Given the description of an element on the screen output the (x, y) to click on. 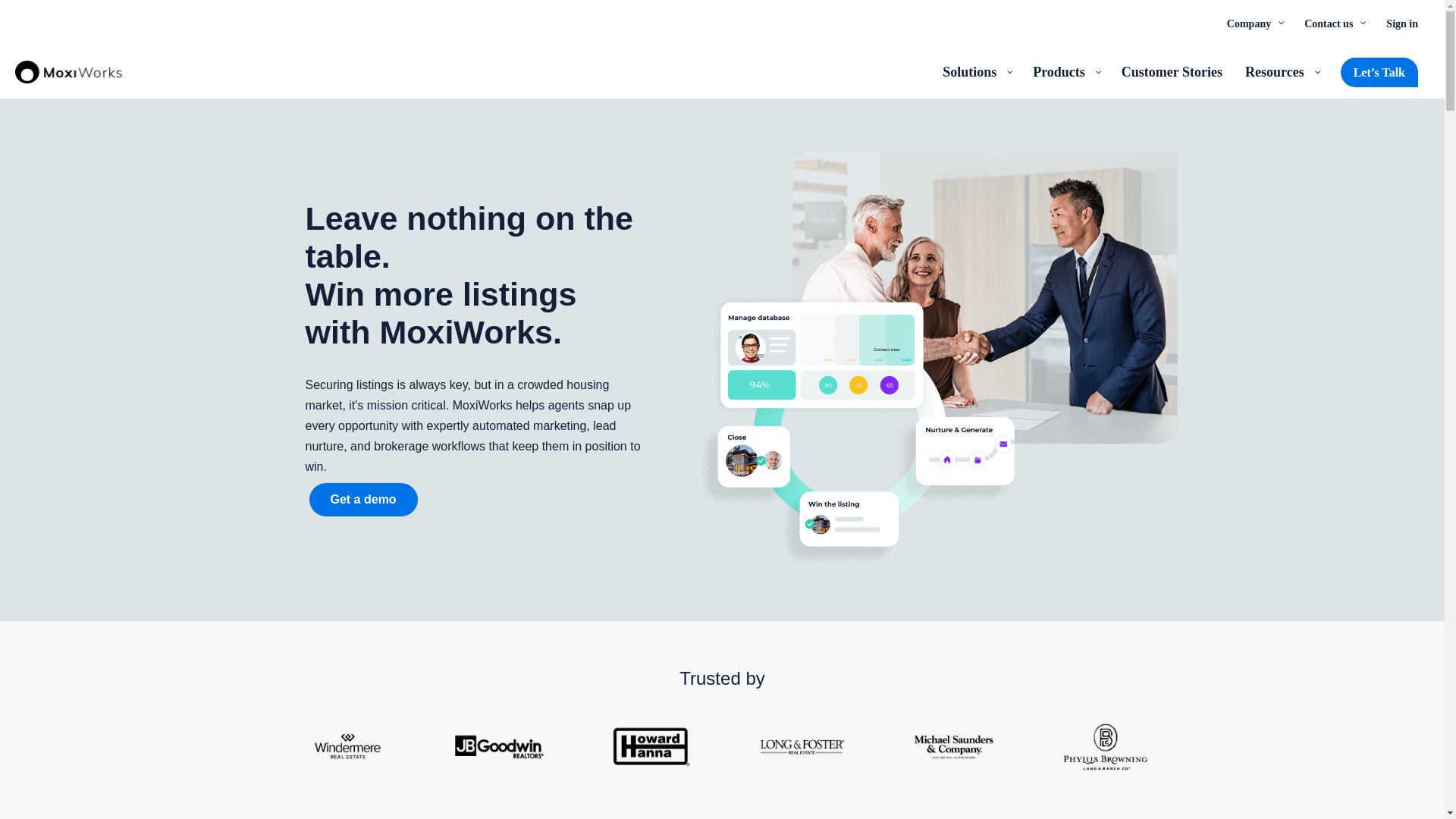
Contact us (1333, 22)
Solutions (976, 72)
Products (1065, 72)
Sign in (1401, 22)
Company (1253, 22)
